Given the description of an element on the screen output the (x, y) to click on. 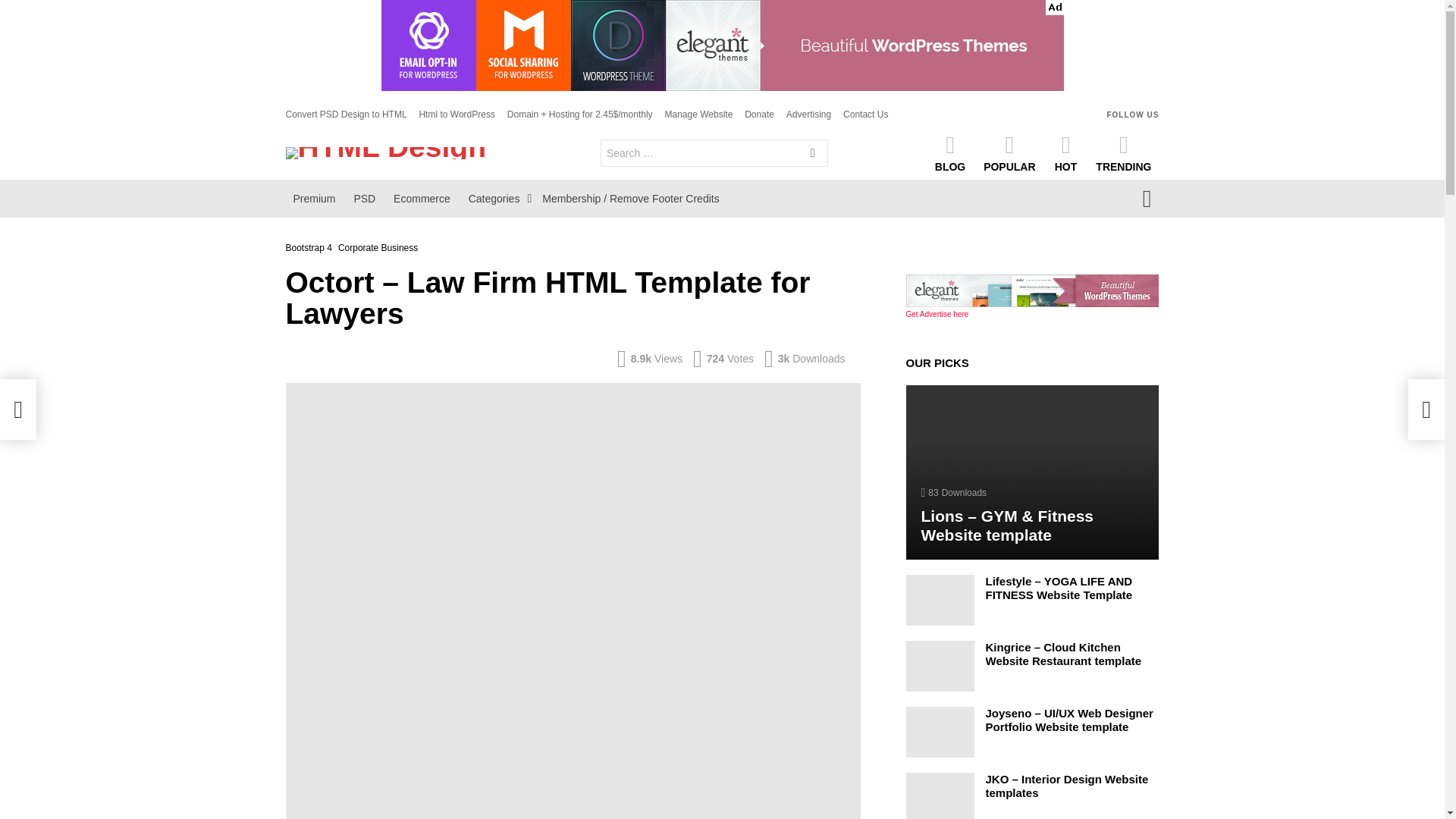
FOLLOW US (1132, 114)
Contact Us (865, 114)
Html to WordPress (457, 114)
Ecommerce (421, 198)
Follow us (1132, 114)
POPULAR (1008, 152)
Donate (759, 114)
Search (812, 154)
Advertising (808, 114)
Categories (496, 198)
